Given the description of an element on the screen output the (x, y) to click on. 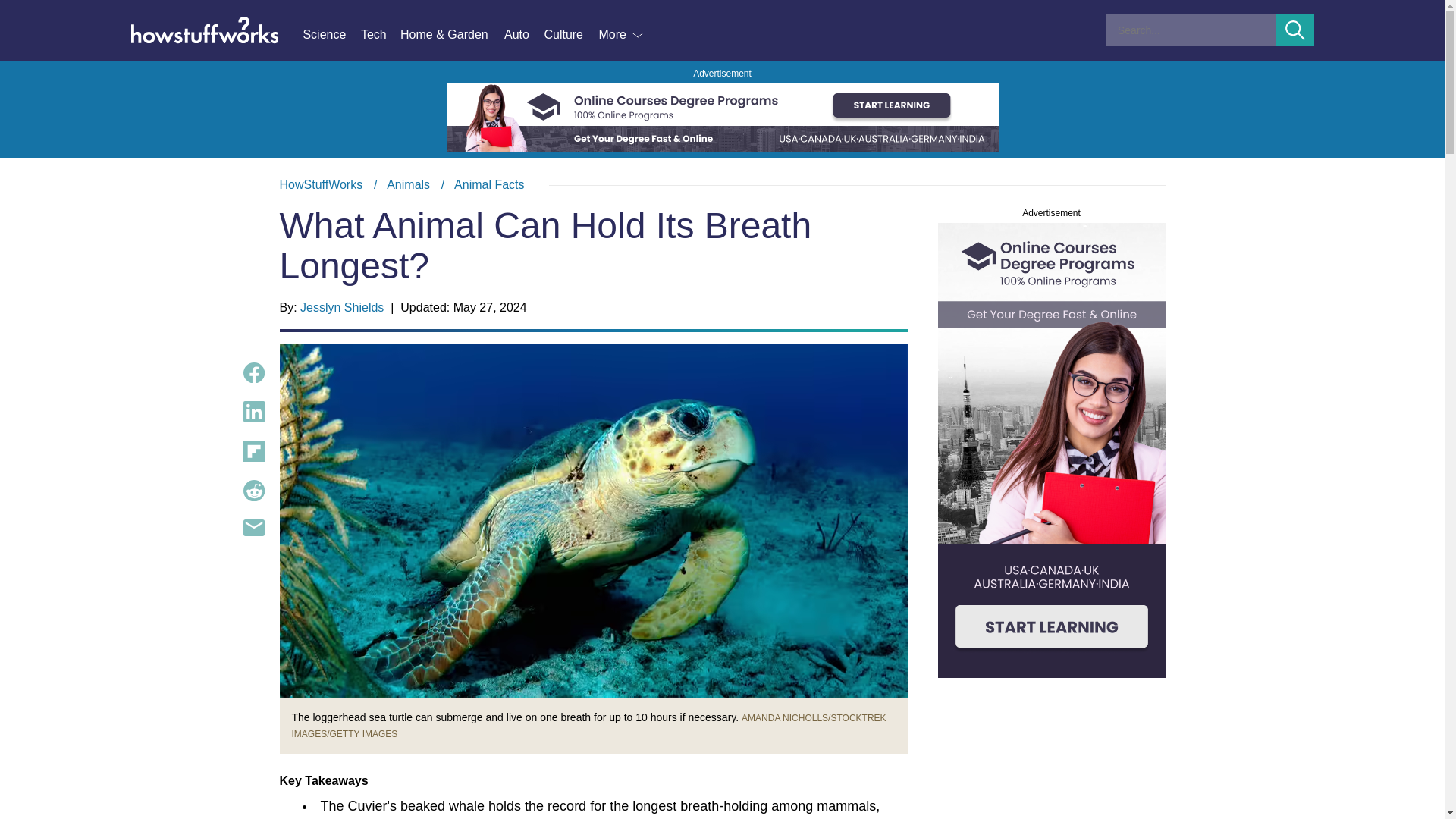
Science (330, 34)
Share Content on Flipboard (253, 450)
Culture (570, 34)
Share Content on Facebook (253, 372)
HowStuffWorks (320, 184)
Auto (523, 34)
Tech (380, 34)
Animals (408, 184)
Share Content on LinkedIn (253, 411)
Submit Search (1295, 29)
